Given the description of an element on the screen output the (x, y) to click on. 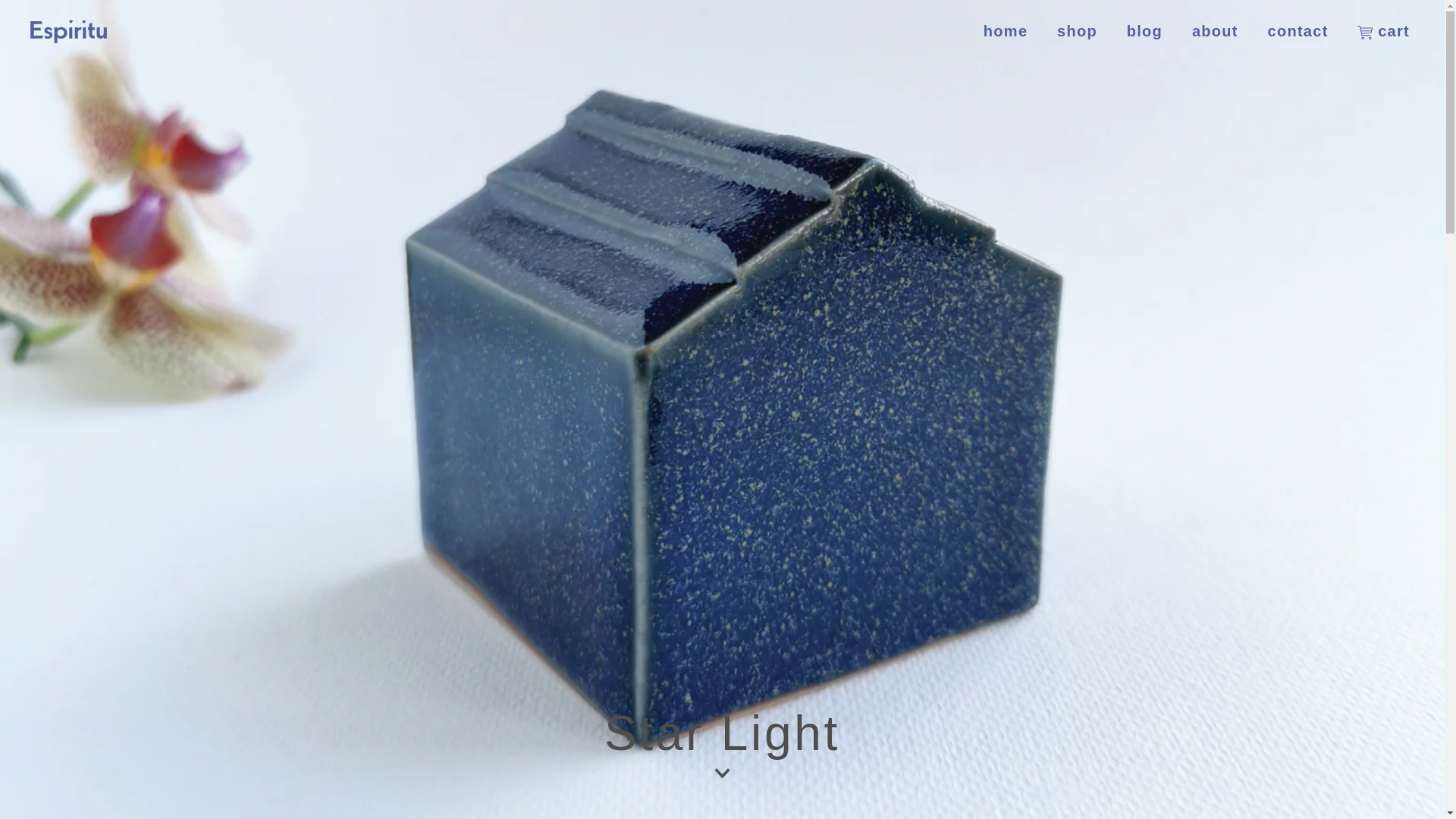
Espiritu (71, 31)
blog (1143, 31)
about (1215, 31)
shop (1077, 31)
cart (1382, 31)
contact (1297, 31)
home (1005, 31)
Star Light (722, 745)
